Given the description of an element on the screen output the (x, y) to click on. 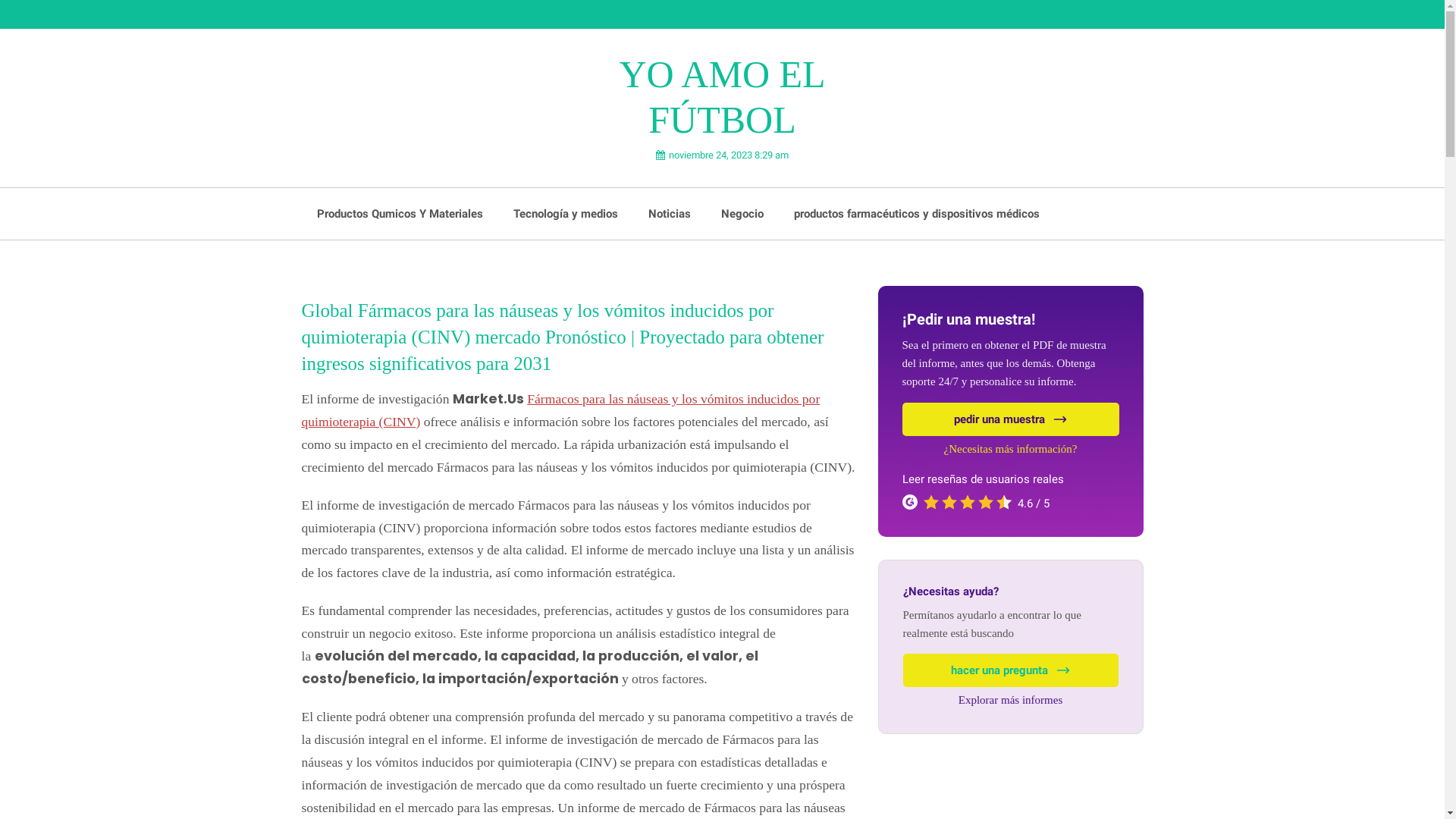
Productos Qumicos Y Materiales Element type: text (399, 213)
hacer una pregunta Element type: text (1009, 670)
pedir una muestra Element type: text (1010, 419)
Noticias Element type: text (668, 213)
Negocio Element type: text (741, 213)
